Given the description of an element on the screen output the (x, y) to click on. 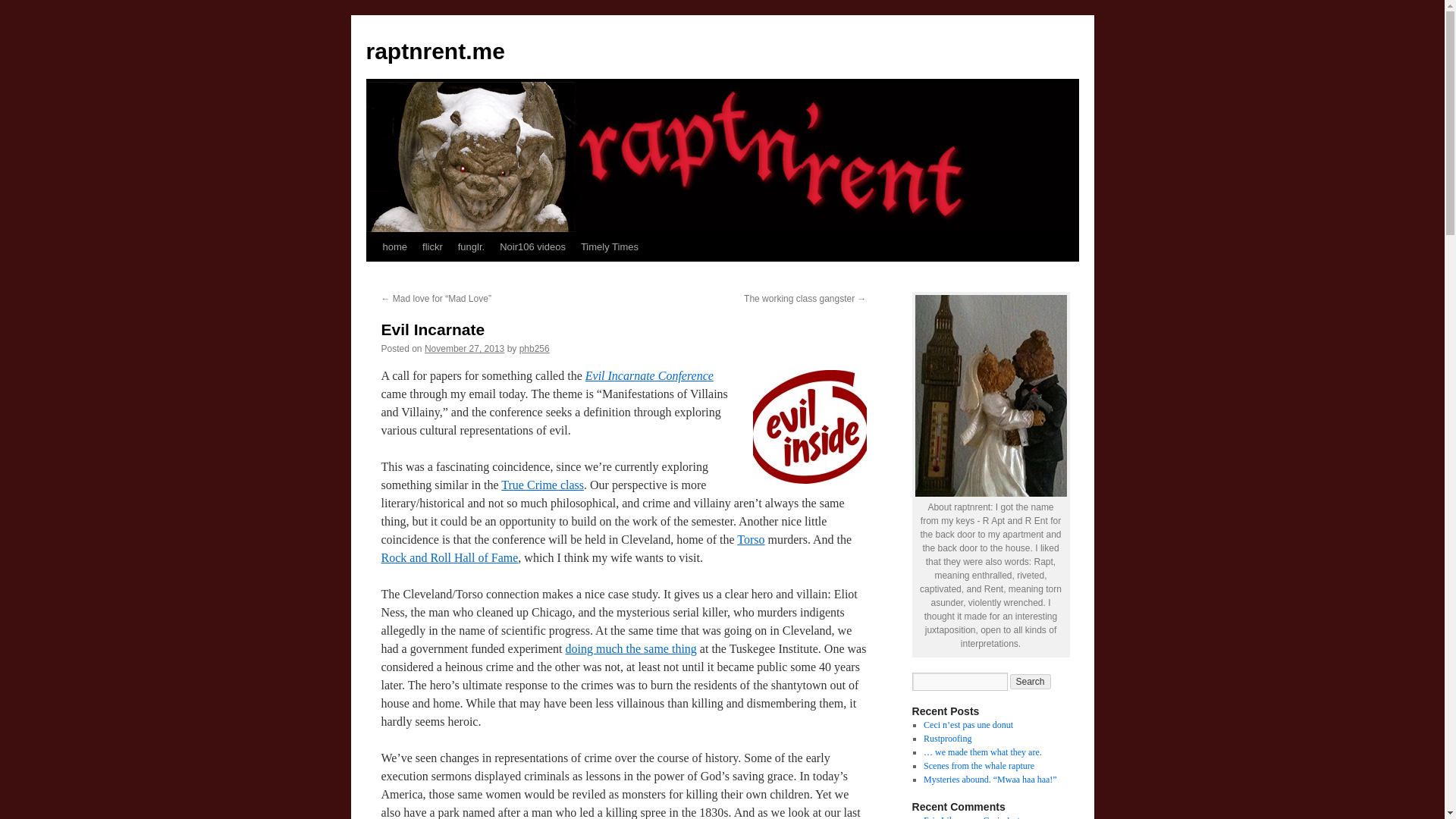
Evil Incarnate Conference (649, 375)
funglr. (470, 246)
raptnrent.me (434, 50)
Search (1030, 681)
Torso (750, 539)
Scenes from the whale rapture (978, 765)
home (394, 246)
Rustproofing (947, 738)
flickr (431, 246)
Noir106 videos (532, 246)
Timely Times (609, 246)
Eric Likness (946, 816)
Rock and Roll Hall of Fame (449, 557)
True Crime class (541, 484)
doing much the same thing (631, 648)
